Given the description of an element on the screen output the (x, y) to click on. 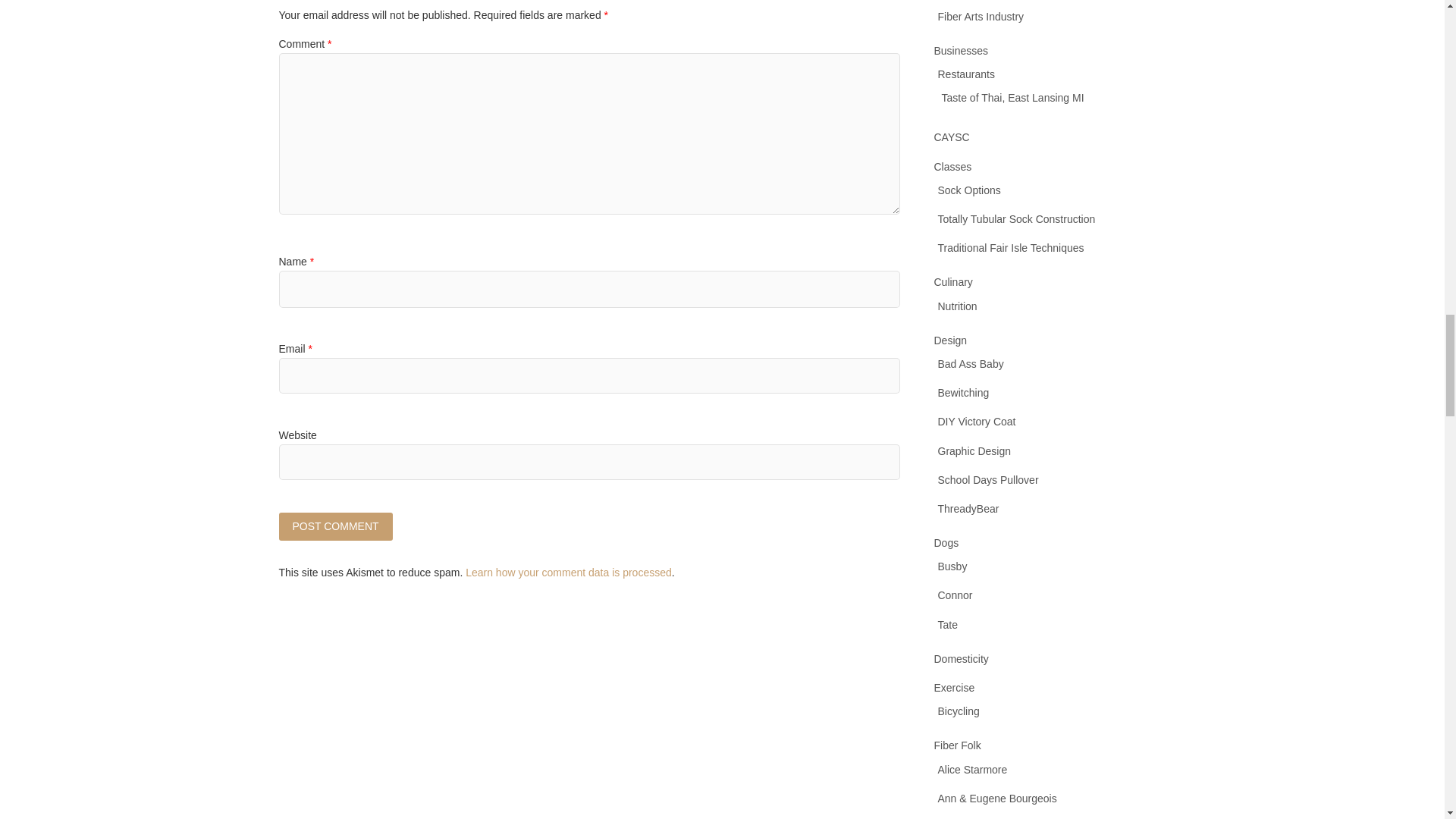
Post Comment (336, 526)
Learn how your comment data is processed (568, 572)
Post Comment (336, 526)
